Given the description of an element on the screen output the (x, y) to click on. 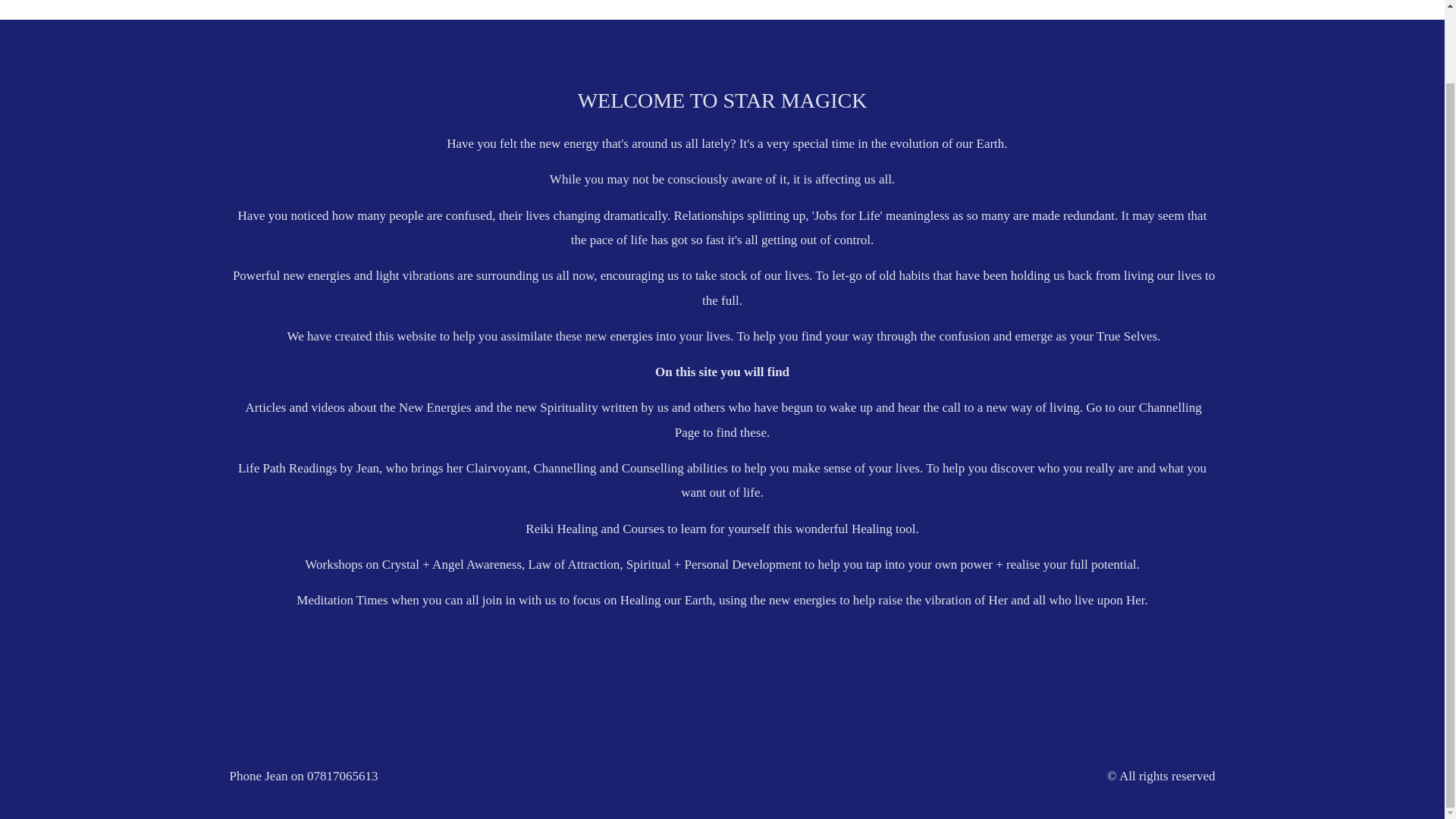
Home Page (409, 2)
Store (723, 2)
Phone Jean on 07817065613 (302, 775)
About Us (664, 2)
Channelling (485, 2)
Reviews (855, 2)
Contact Jean (780, 2)
Jean Clairvoyant (1001, 2)
